Given the description of an element on the screen output the (x, y) to click on. 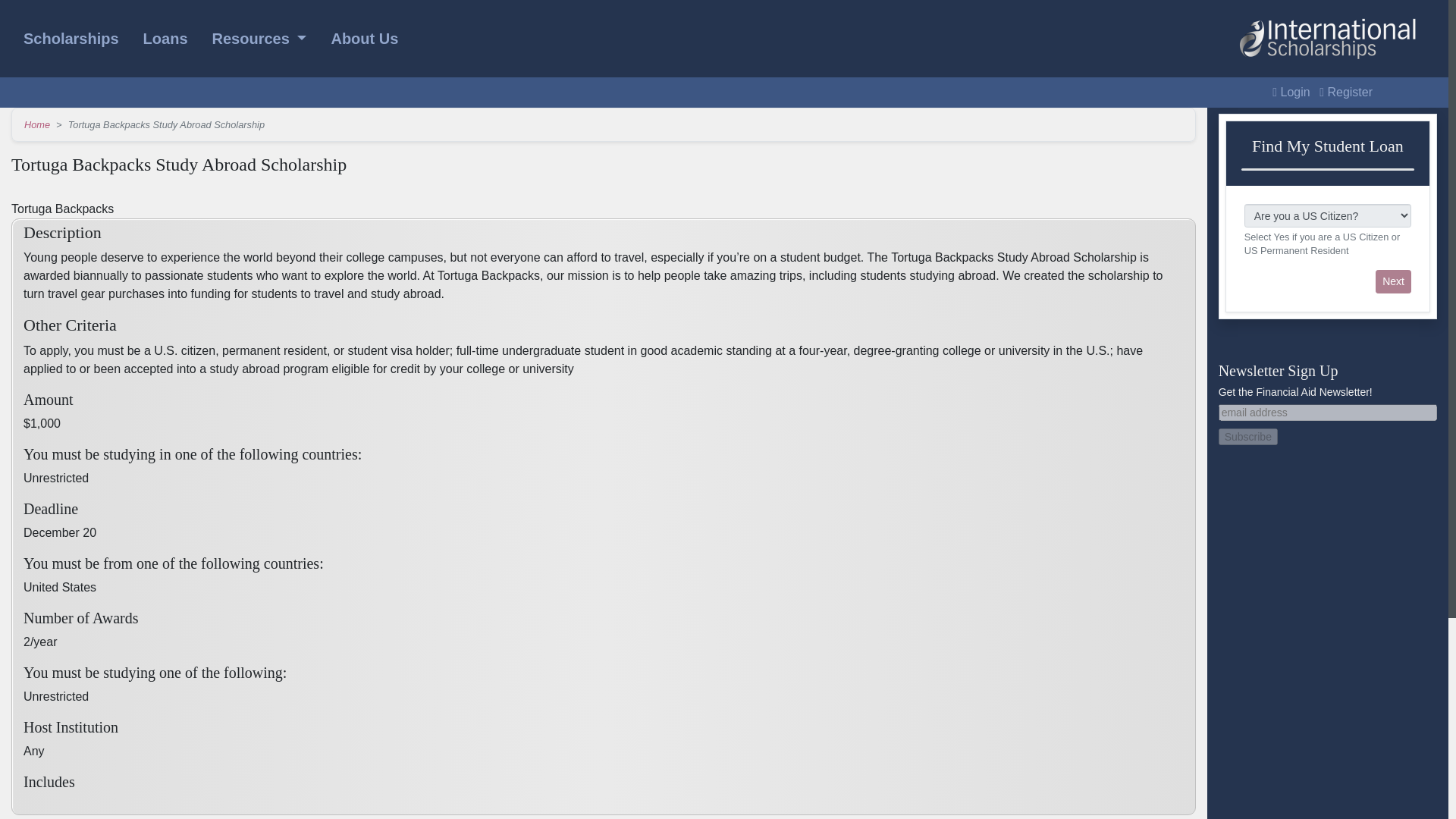
Login (1290, 91)
Home (1327, 38)
Scholarships (71, 38)
Next (1392, 281)
Home (36, 124)
About Us (364, 38)
Subscribe (1248, 436)
Loans (165, 38)
Subscribe (1248, 436)
Register (1346, 91)
Resources (259, 38)
